Given the description of an element on the screen output the (x, y) to click on. 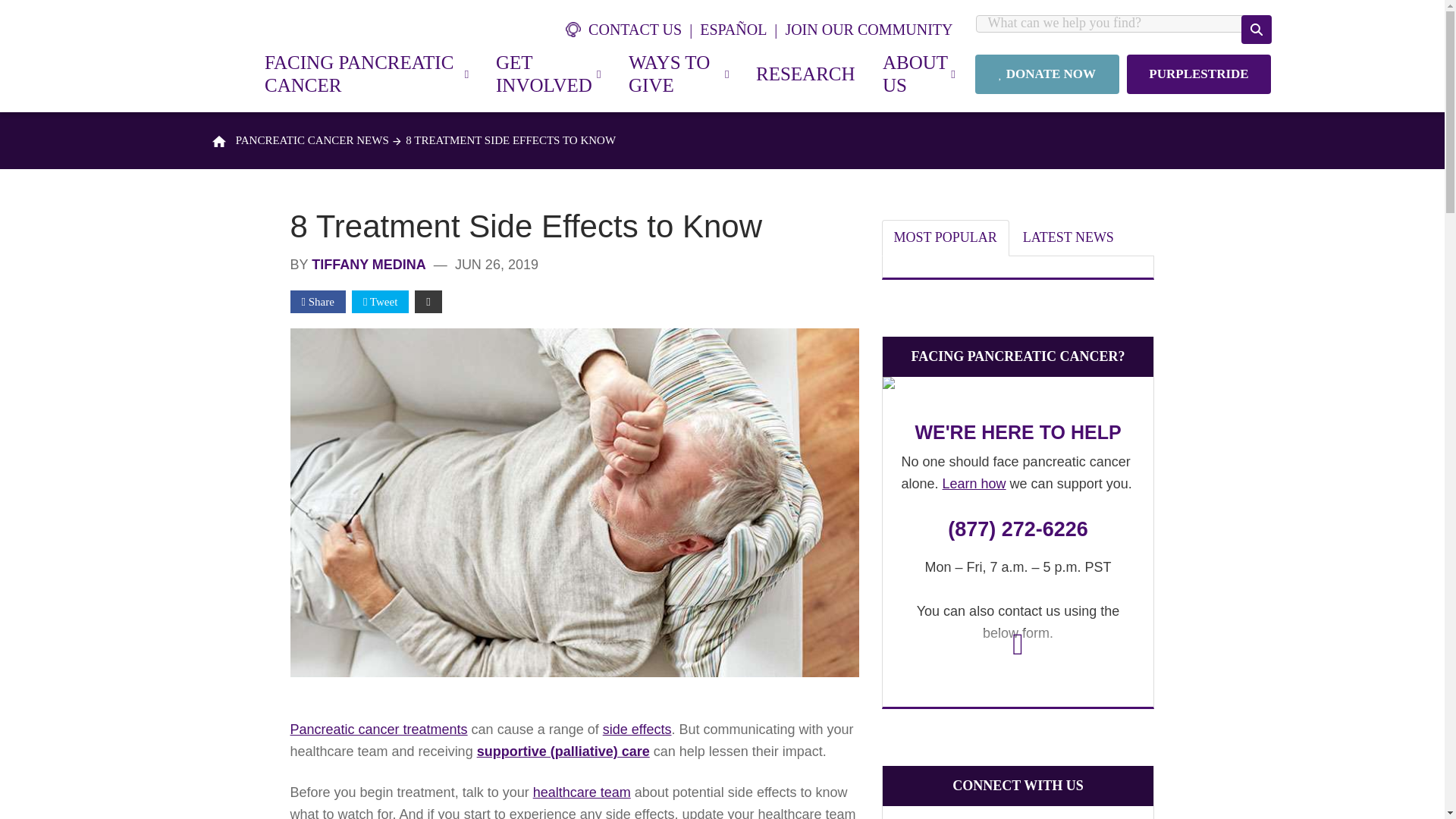
Patient Services Case Manager (1018, 387)
GET INVOLVED  (547, 74)
JOIN OUR COMMUNITY (868, 29)
WAYS TO GIVE  (678, 74)
FACING PANCREATIC CANCER  (366, 74)
  CONTACT US (633, 29)
Call Us, 877- 272-6226 (1017, 528)
